Given the description of an element on the screen output the (x, y) to click on. 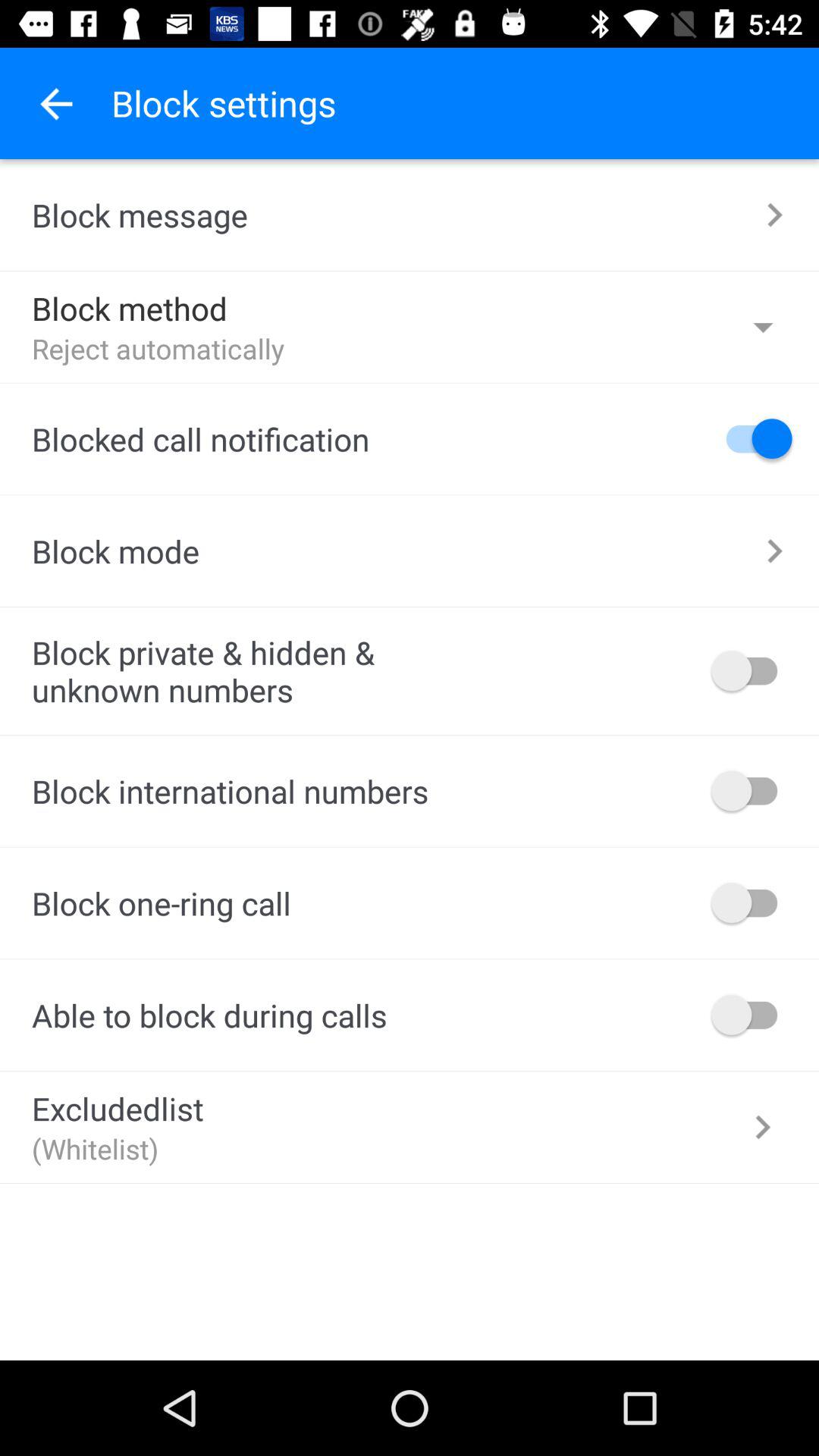
turn off (751, 438)
